Given the description of an element on the screen output the (x, y) to click on. 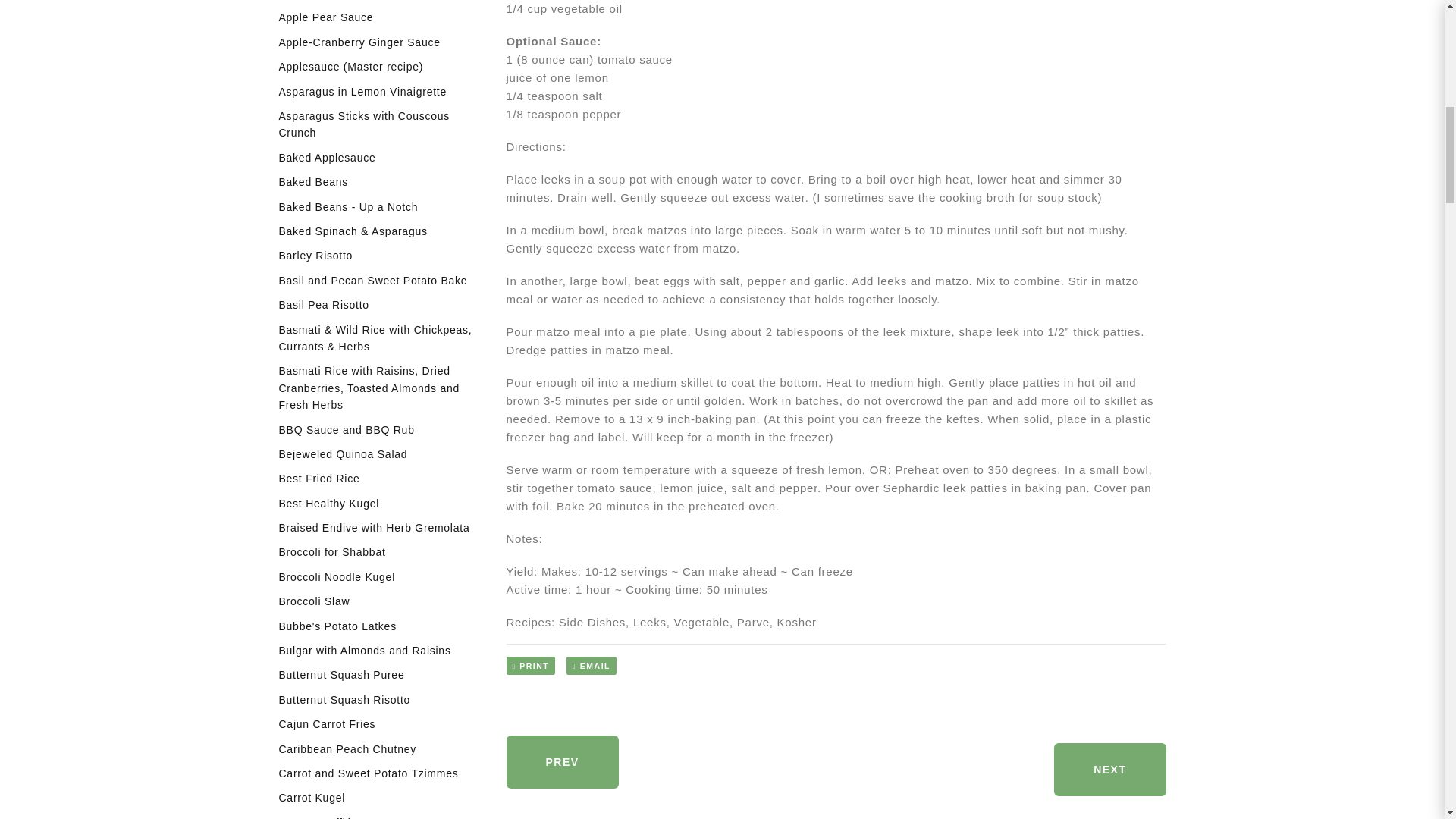
Email this link to a friend (590, 675)
